Given the description of an element on the screen output the (x, y) to click on. 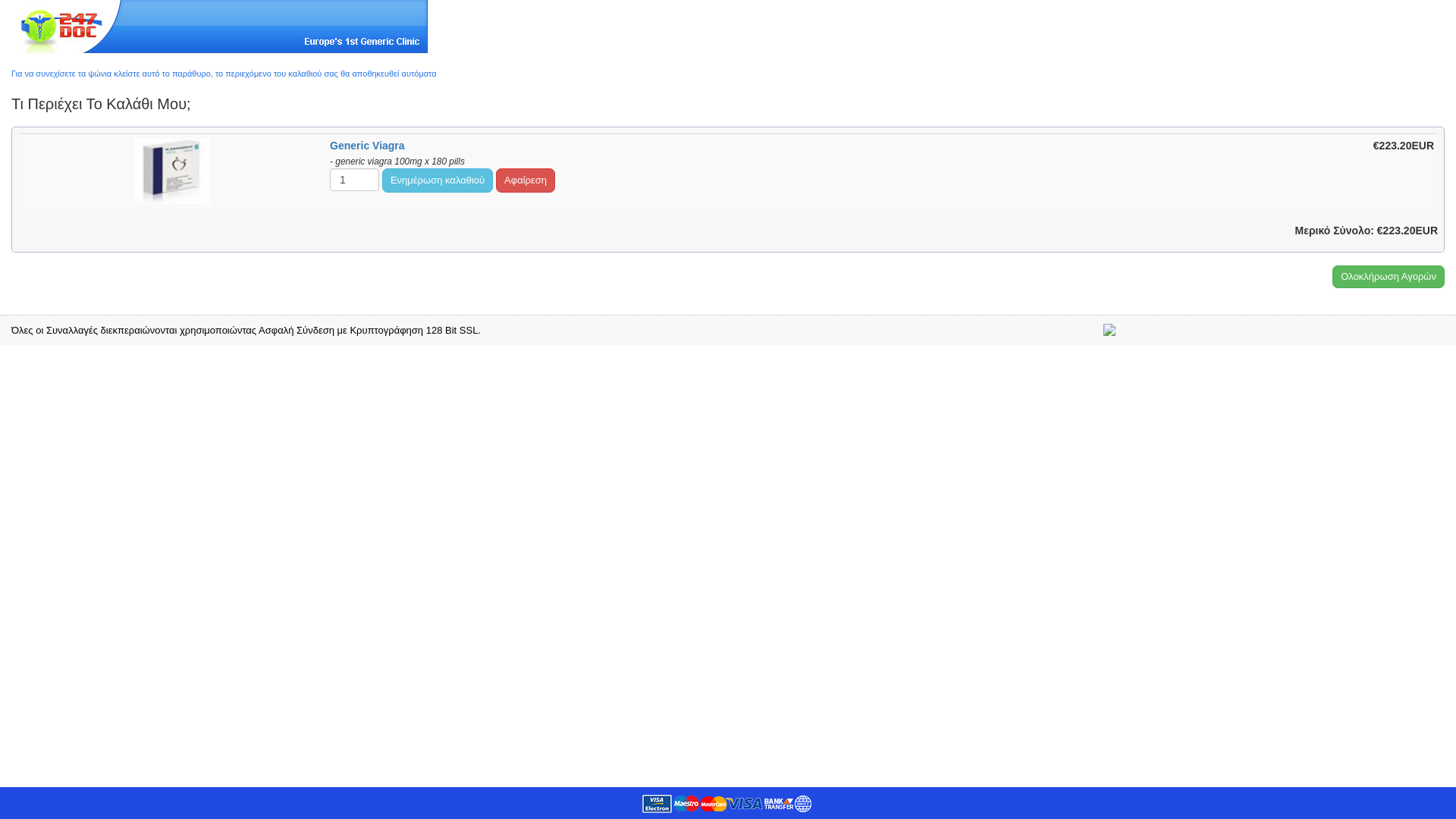
247Doc Element type: hover (219, 26)
Generic Viagra Element type: hover (172, 170)
Generic Viagra Element type: text (366, 145)
